Given the description of an element on the screen output the (x, y) to click on. 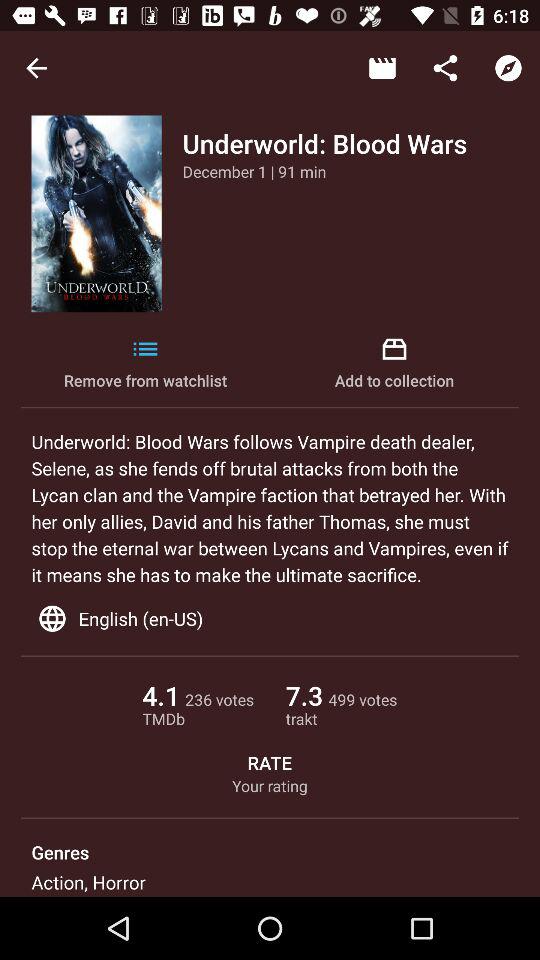
click the item to the left of the add to collection (145, 364)
